Given the description of an element on the screen output the (x, y) to click on. 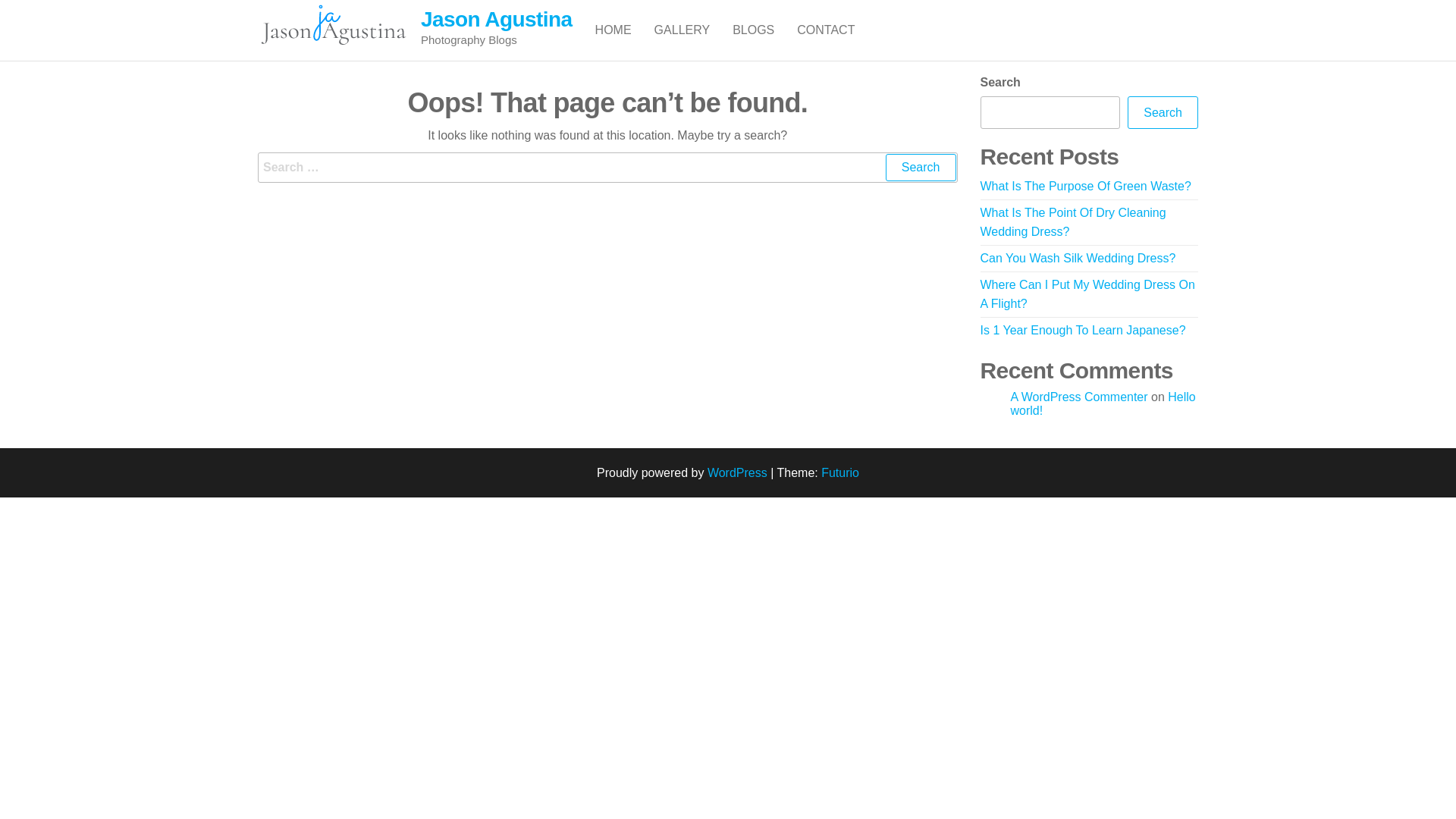
Jason Agustina Element type: text (496, 19)
Search Element type: text (920, 167)
Is 1 Year Enough To Learn Japanese? Element type: text (1082, 329)
Search Element type: text (1162, 112)
BLOGS Element type: text (753, 30)
What Is The Point Of Dry Cleaning Wedding Dress? Element type: text (1072, 222)
GALLERY Element type: text (682, 30)
CONTACT Element type: text (825, 30)
Hello world! Element type: text (1102, 403)
WordPress Element type: text (737, 472)
HOME Element type: text (613, 30)
What Is The Purpose Of Green Waste? Element type: text (1084, 185)
Can You Wash Silk Wedding Dress? Element type: text (1077, 257)
Where Can I Put My Wedding Dress On A Flight? Element type: text (1086, 294)
Futurio Element type: text (840, 472)
A WordPress Commenter Element type: text (1078, 396)
